Given the description of an element on the screen output the (x, y) to click on. 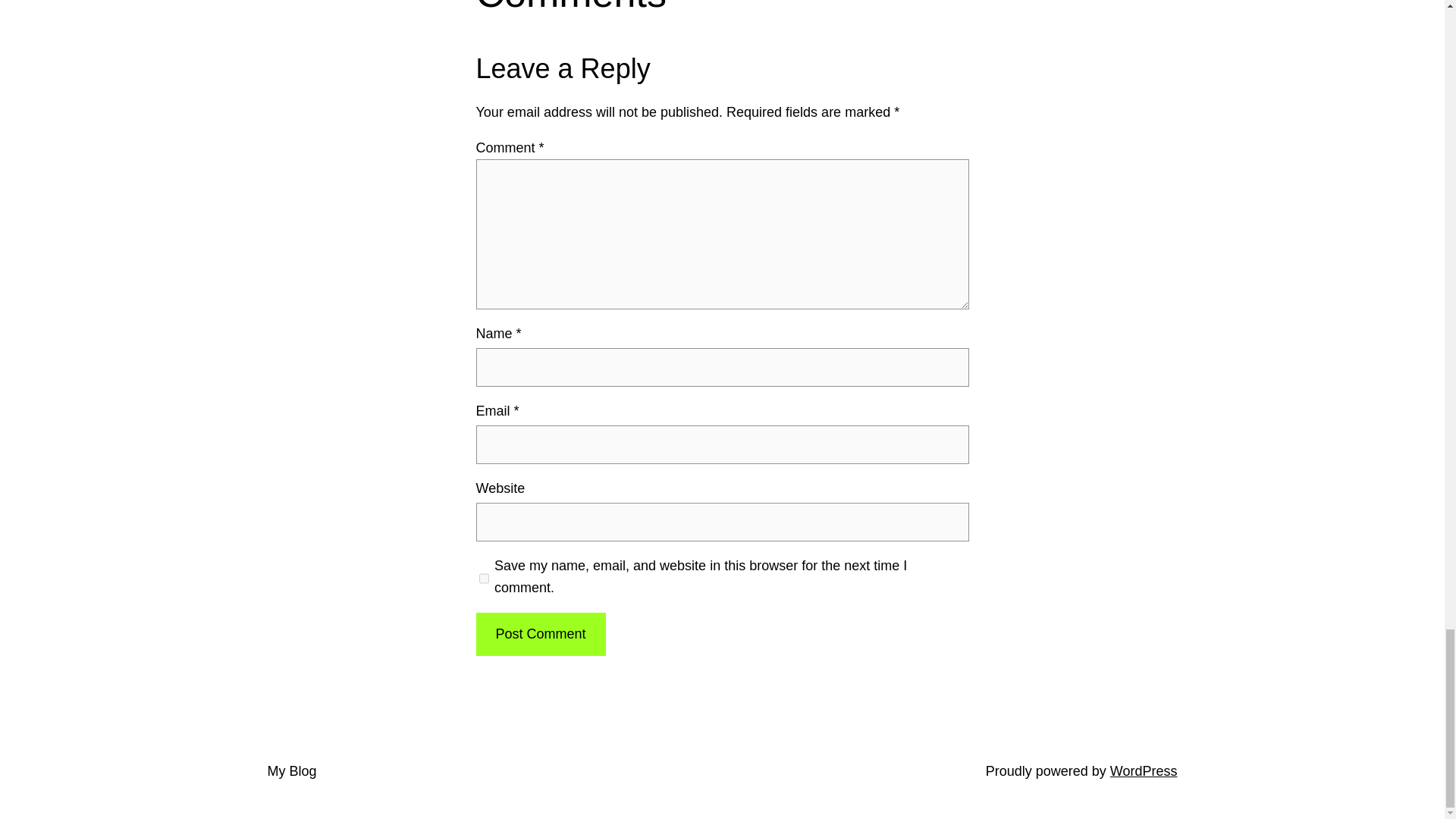
Post Comment (540, 634)
My Blog (290, 770)
WordPress (1143, 770)
Post Comment (540, 634)
